Given the description of an element on the screen output the (x, y) to click on. 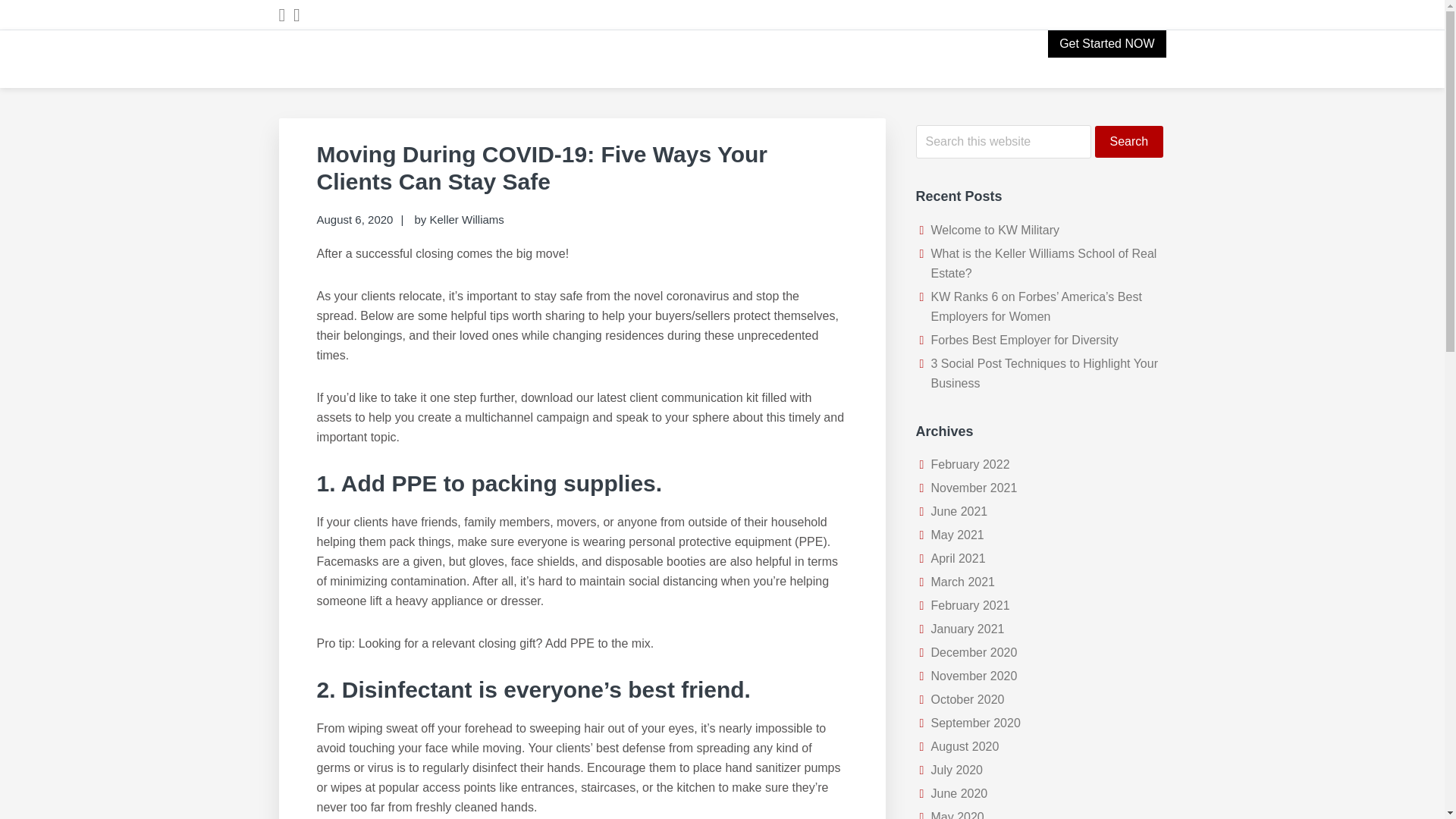
June 2021 (959, 511)
Get Started NOW (1107, 43)
January 2021 (967, 628)
KW CAREER SITE (408, 94)
May 2021 (957, 534)
3 Social Post Techniques to Highlight Your Business (1044, 373)
Search (1128, 142)
November 2021 (974, 487)
April 2021 (958, 558)
July 2020 (957, 769)
What is the Keller Williams School of Real Estate? (1044, 263)
June 2020 (959, 793)
December 2020 (974, 652)
February 2021 (970, 604)
